Given the description of an element on the screen output the (x, y) to click on. 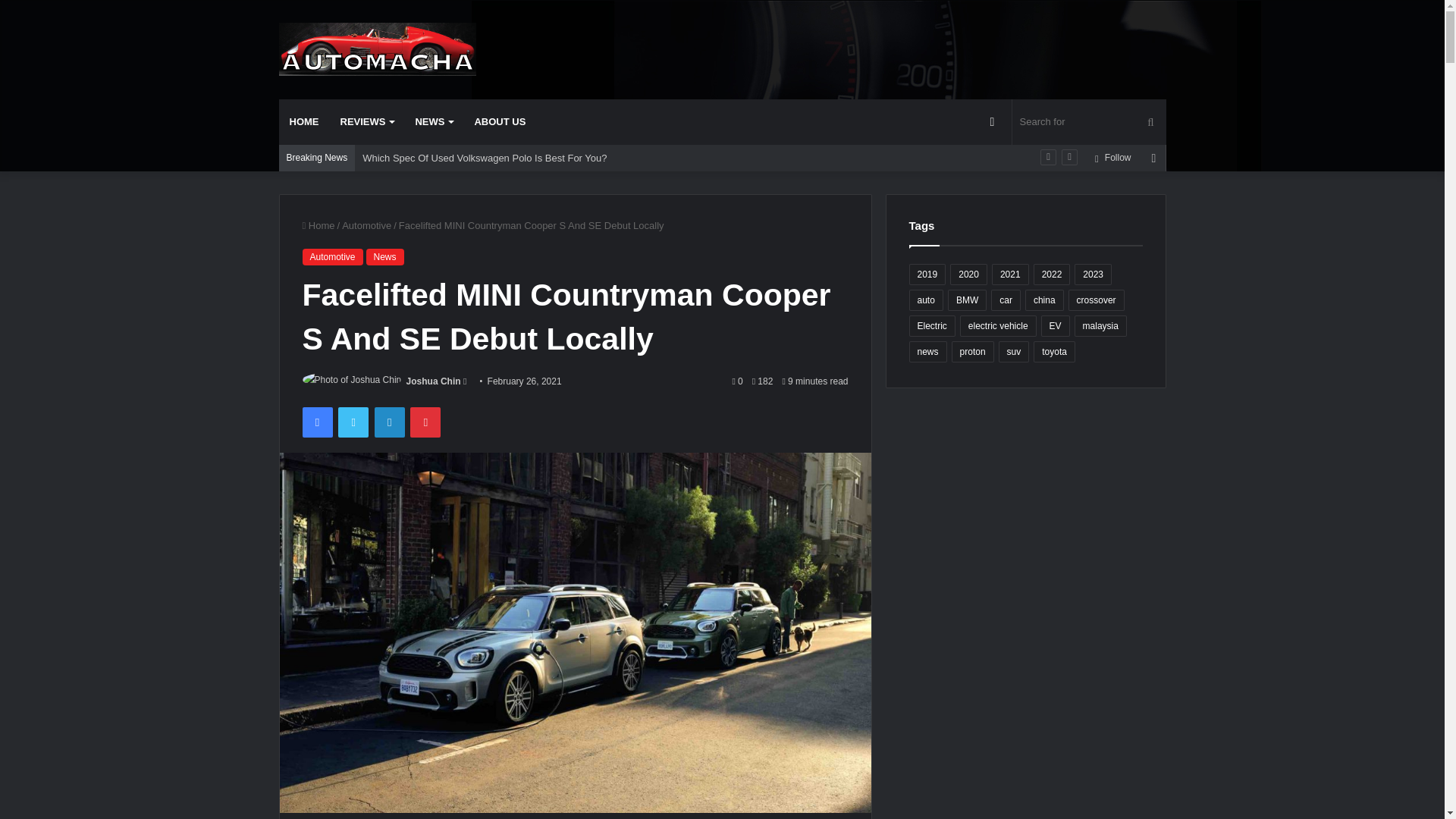
Pinterest (425, 422)
Twitter (352, 422)
Pinterest (425, 422)
REVIEWS (366, 121)
Automotive (331, 256)
Automotive (366, 225)
LinkedIn (389, 422)
NEWS (433, 121)
News (385, 256)
Facebook (316, 422)
Joshua Chin (433, 380)
Automacha (377, 49)
ABOUT US (499, 121)
Facebook (316, 422)
LinkedIn (389, 422)
